Given the description of an element on the screen output the (x, y) to click on. 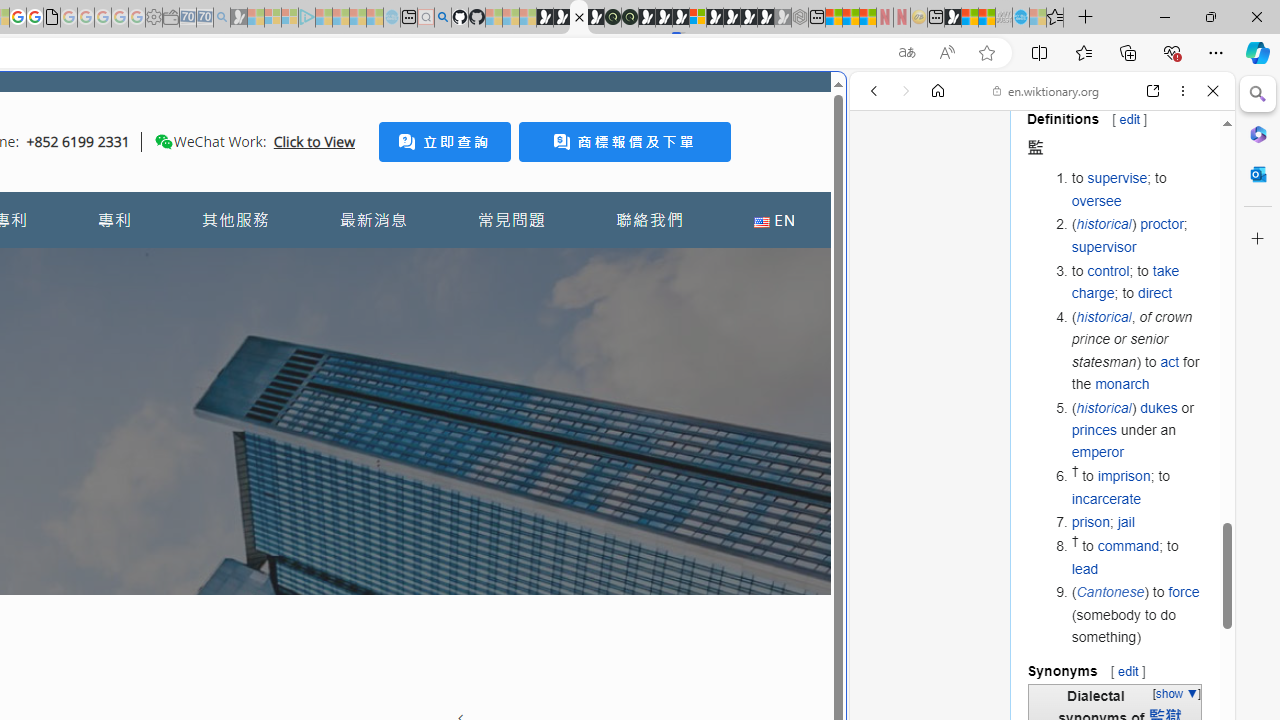
proctor (1162, 224)
prison; jail (1137, 522)
incarcerate (1106, 498)
Future Focus Report 2024 (629, 17)
Forward (906, 91)
Close Outlook pane (1258, 174)
Sign in to your account (697, 17)
Preferences (1189, 228)
act (1169, 361)
